Given the description of an element on the screen output the (x, y) to click on. 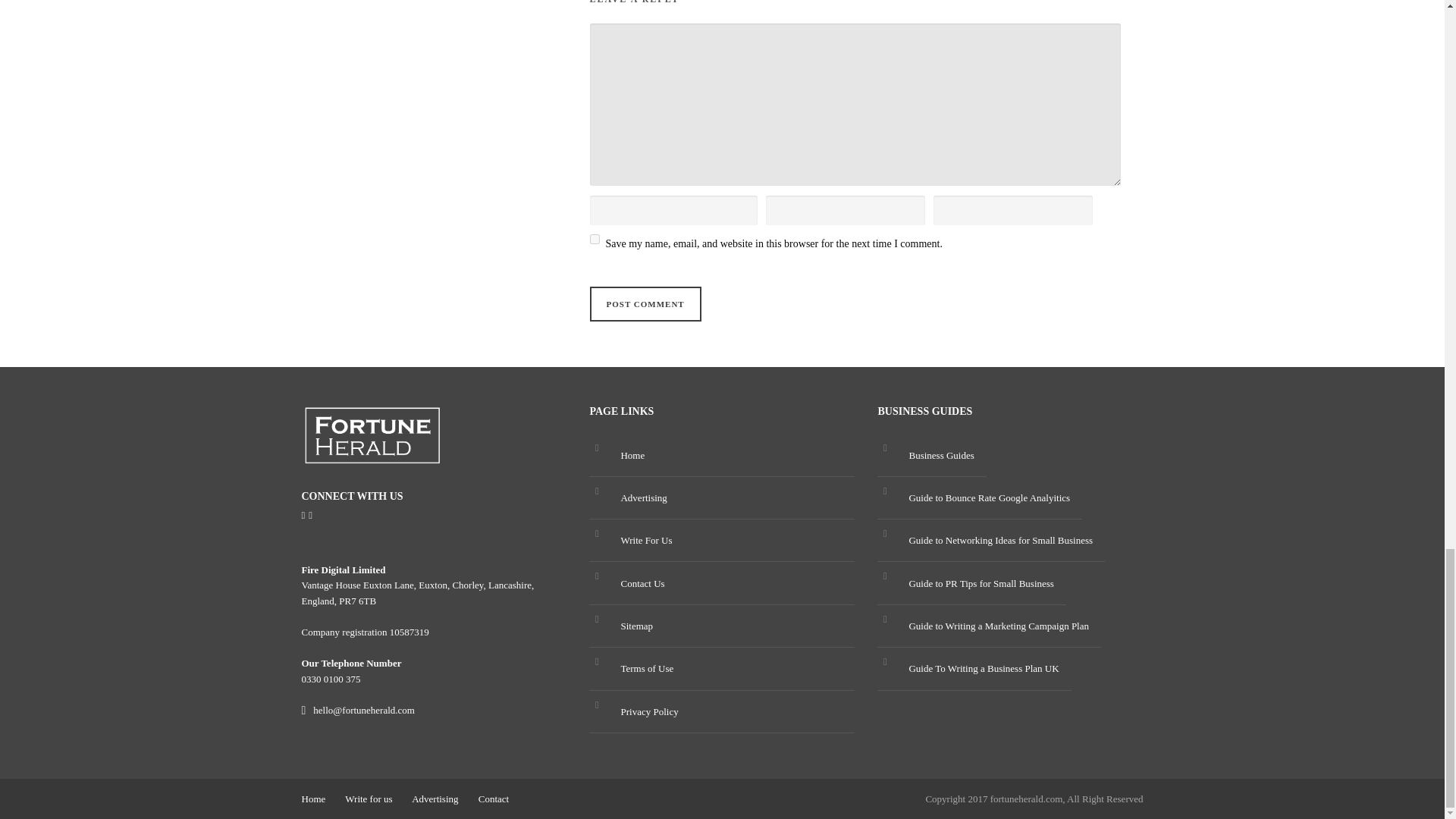
Post Comment (645, 304)
yes (594, 239)
